Given the description of an element on the screen output the (x, y) to click on. 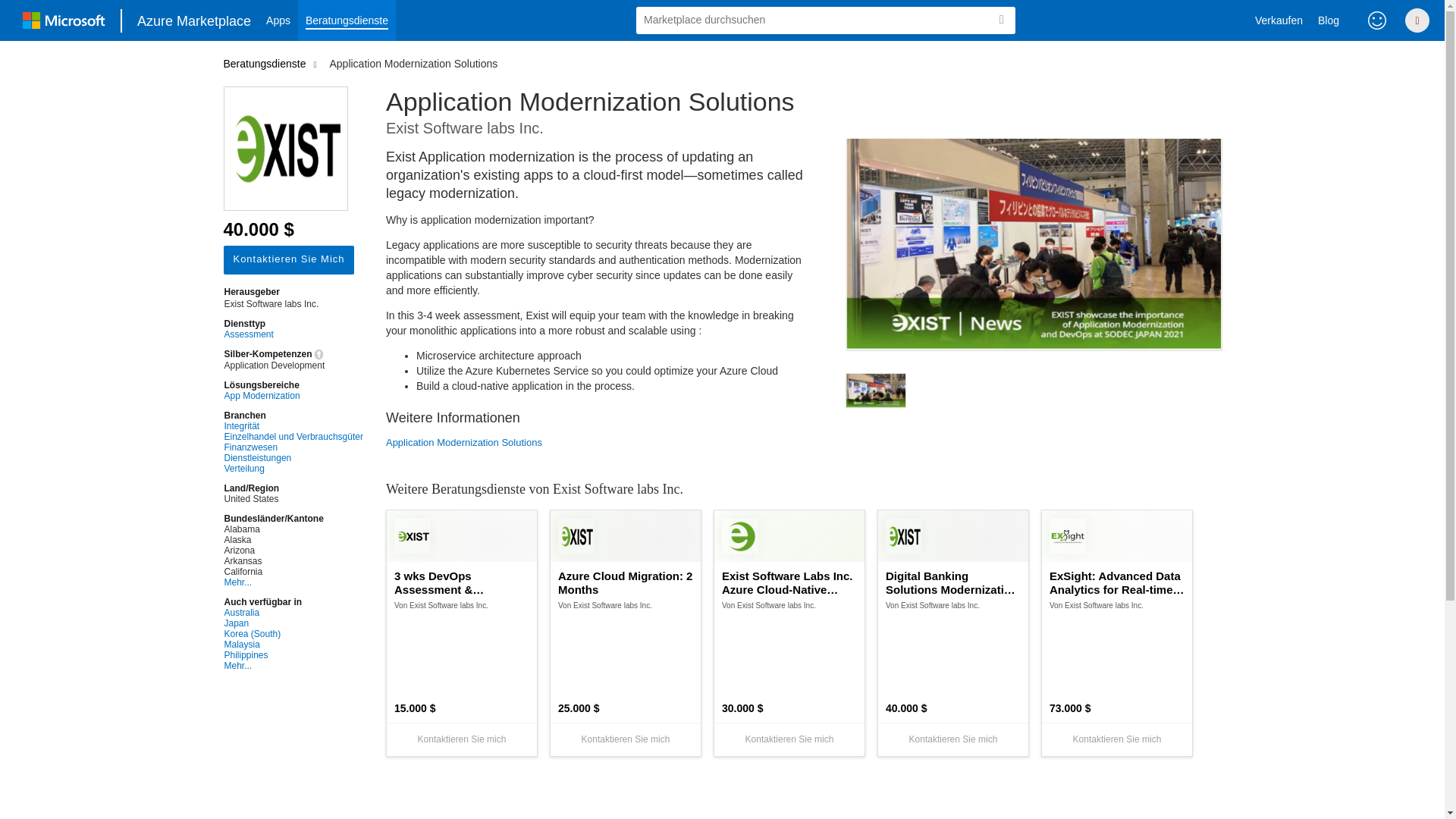
Apps (278, 20)
Exist Software Labs Inc. Azure Cloud-Native Services (789, 583)
Verkaufen (1278, 20)
Search (1001, 19)
Beratungsdienste (347, 20)
Digital Banking Solutions Modernization - Cloud Base (952, 583)
Feedback (1377, 20)
Azure Marketplace (194, 20)
